Given the description of an element on the screen output the (x, y) to click on. 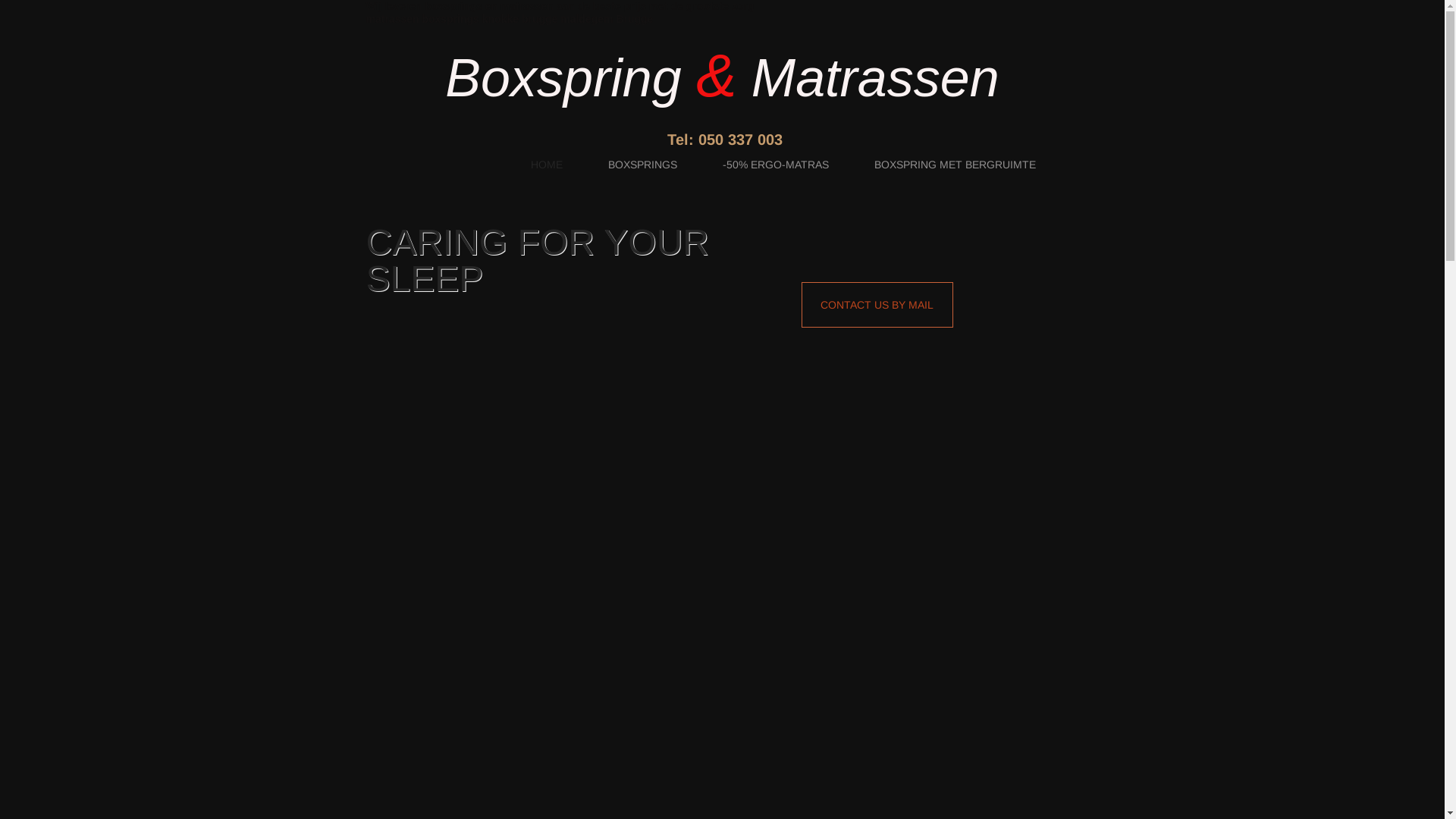
BOXSPRINGS Element type: text (642, 163)
HOME Element type: text (546, 163)
Tel: 050 337 003 Element type: text (724, 139)
BOXSPRING MET BERGRUIMTE Element type: text (954, 163)
CONTACT US BY MAIL Element type: text (877, 304)
-50% ERGO-MATRAS Element type: text (775, 163)
